Given the description of an element on the screen output the (x, y) to click on. 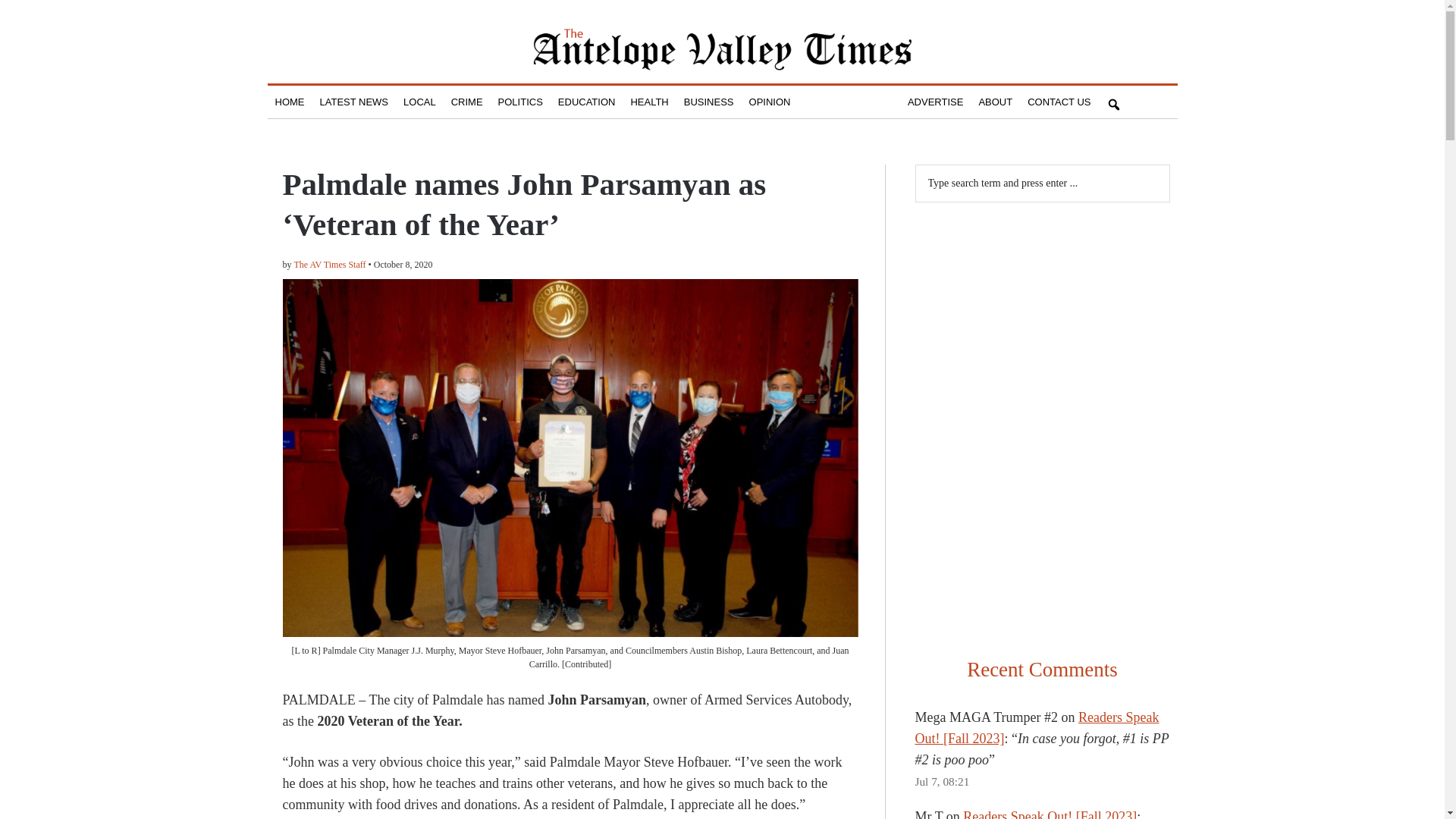
ABOUT (995, 101)
ADVERTISE (935, 101)
BUSINESS (709, 101)
LATEST NEWS (354, 101)
SHOW SEARCH (1112, 101)
CONTACT US (1058, 101)
Advertisement (1041, 315)
POLITICS (520, 101)
The AV Times Staff (330, 264)
The Antelope Valley Times (721, 49)
LOCAL (420, 101)
OPINION (769, 101)
